Given the description of an element on the screen output the (x, y) to click on. 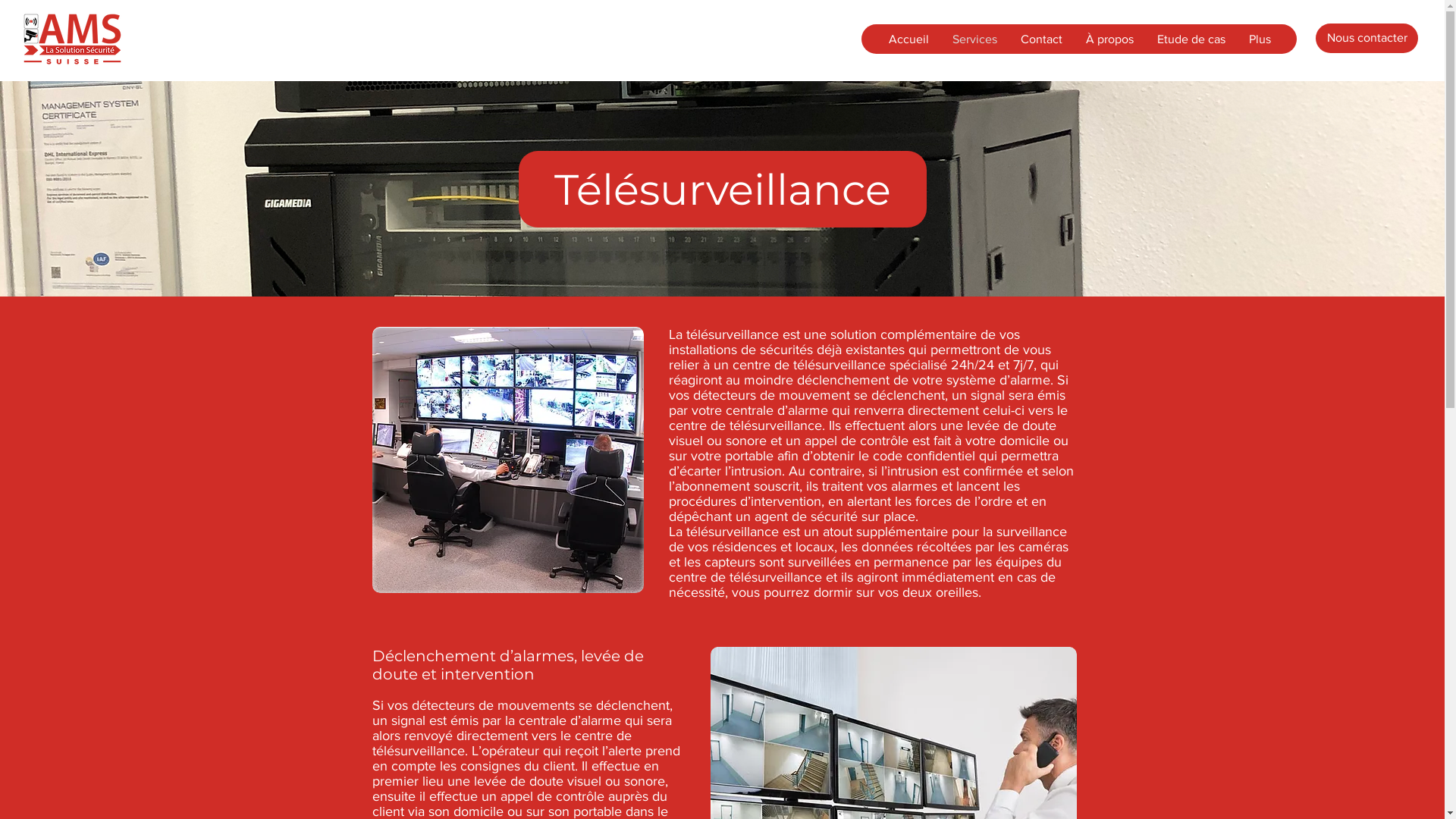
Etude de cas Element type: text (1190, 38)
Services Element type: text (974, 38)
Nous contacter Element type: text (1366, 38)
Accueil Element type: text (908, 38)
Contact Element type: text (1040, 38)
